Given the description of an element on the screen output the (x, y) to click on. 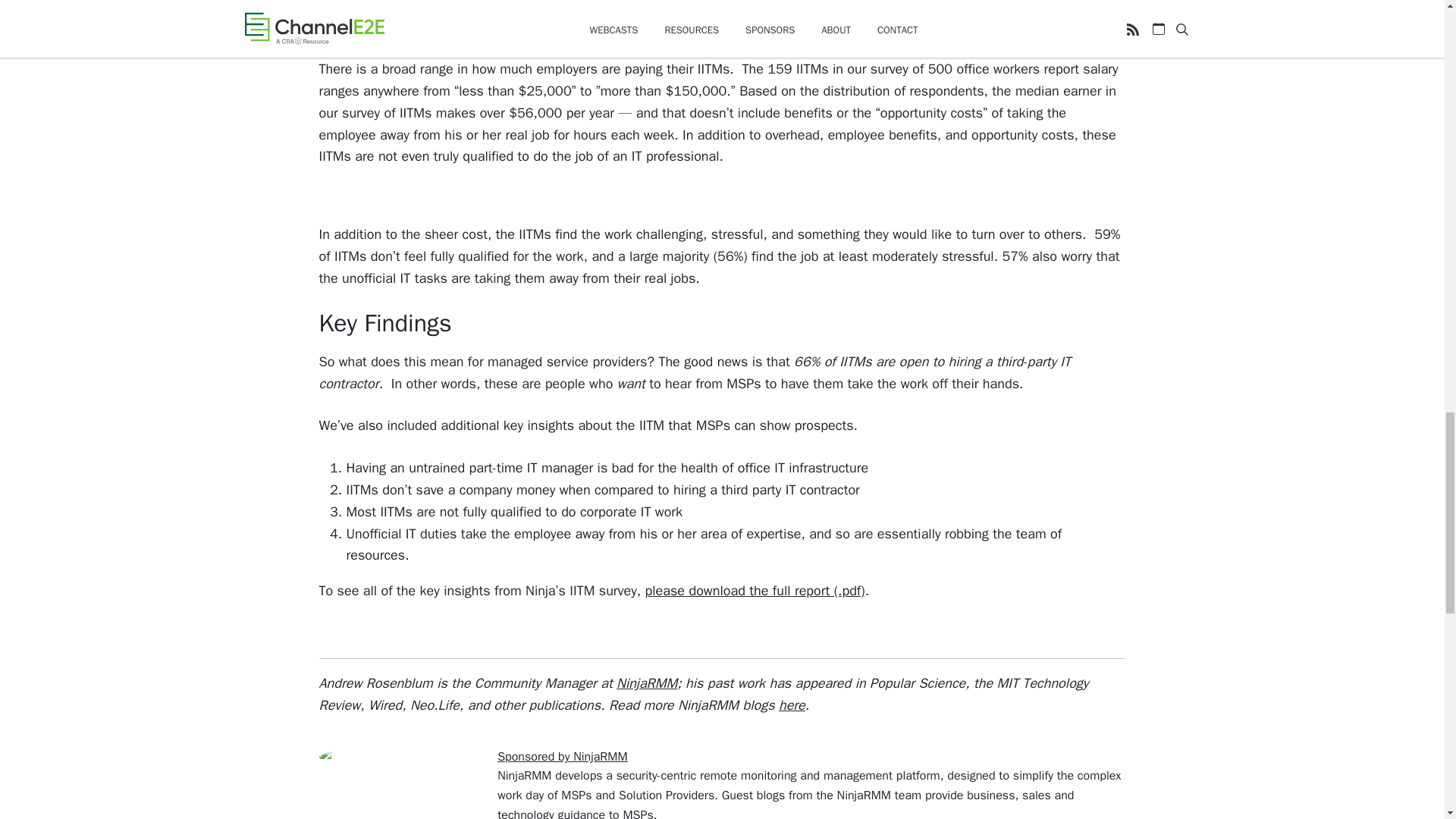
Sponsored by NinjaRMM (562, 756)
here (791, 704)
NinjaRMM (646, 682)
NinjaRMM (524, 775)
